Given the description of an element on the screen output the (x, y) to click on. 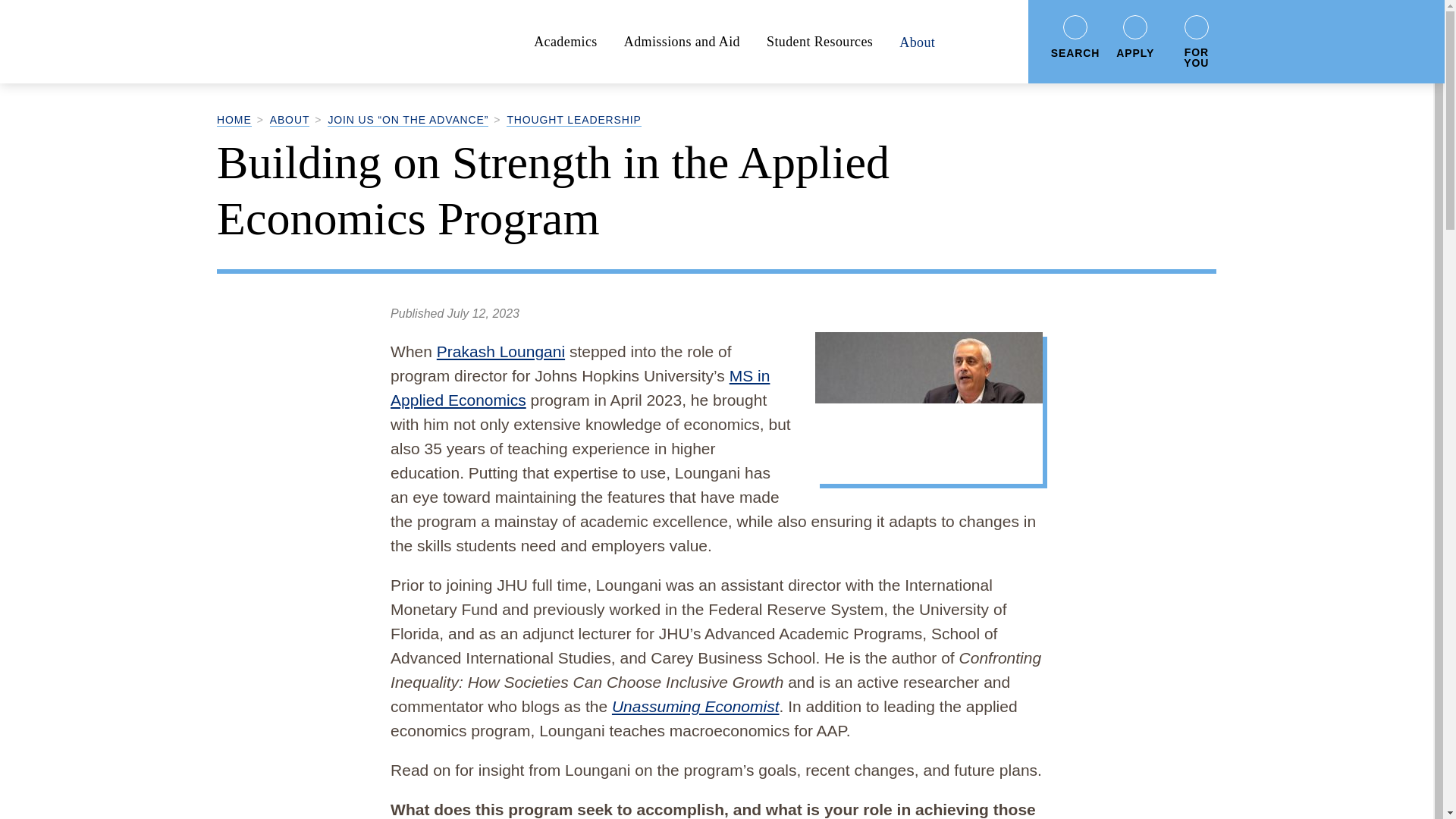
About (916, 41)
Admissions and Aid (681, 41)
Johns Hopkins Advanced Academic Programs (331, 41)
Student Resources (819, 41)
Academics (565, 41)
